Given the description of an element on the screen output the (x, y) to click on. 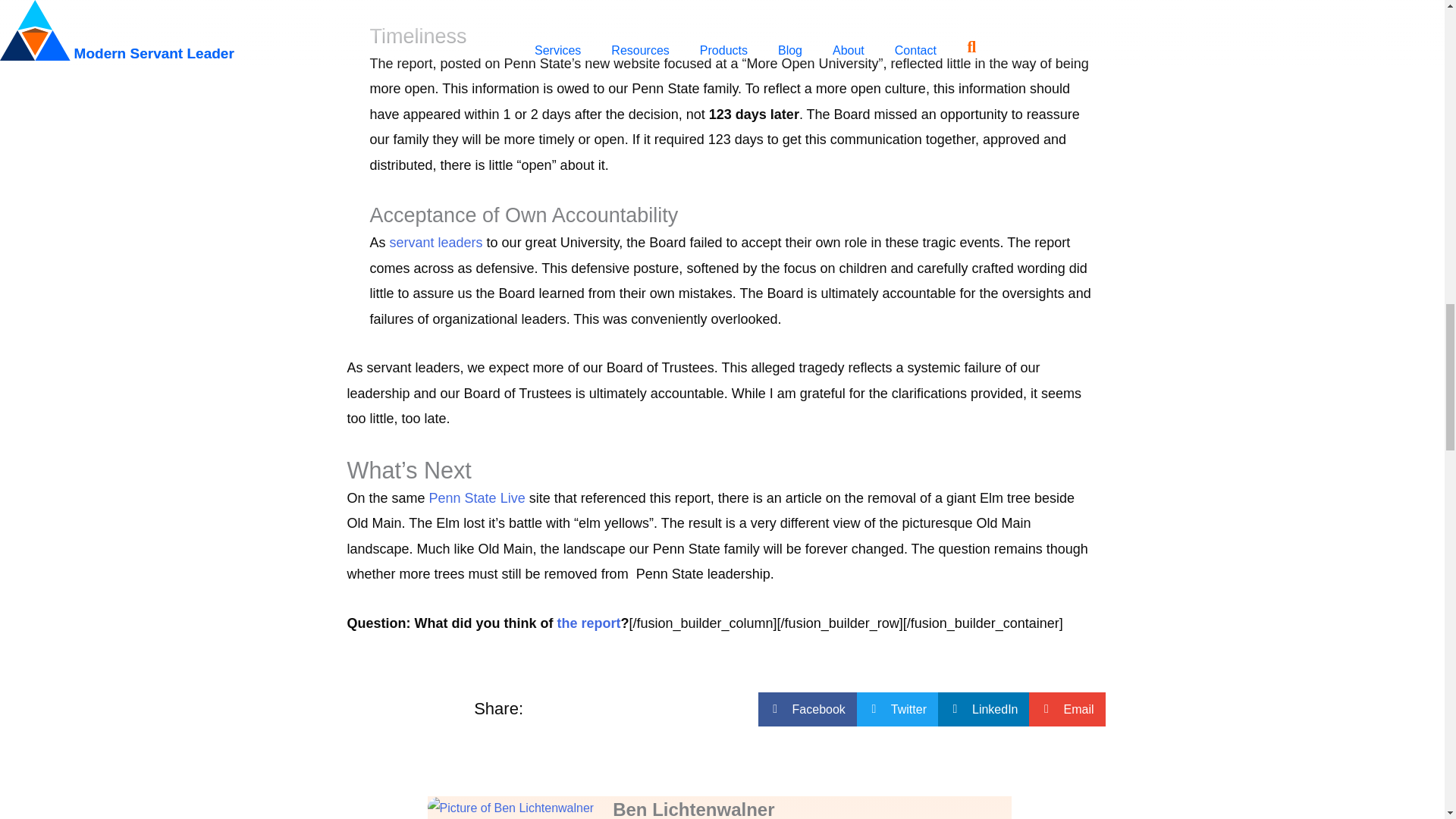
Penn State Live - Elm Tree  (477, 498)
What is Servant Leadership? (436, 242)
